Given the description of an element on the screen output the (x, y) to click on. 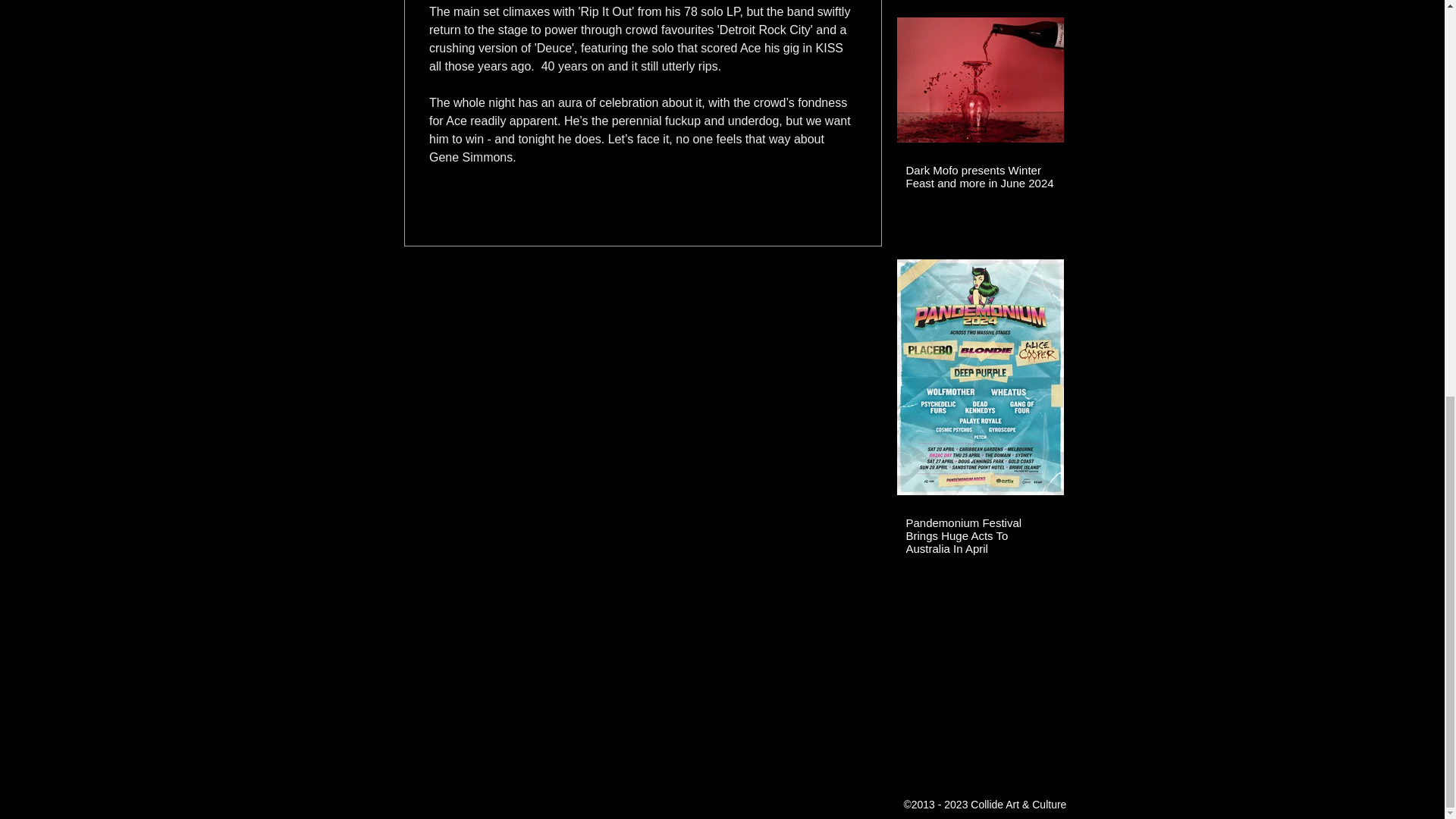
Dark Mofo presents Winter Feast and more in June 2024 (979, 176)
Pandemonium Festival Brings Huge Acts To Australia In April (979, 535)
